Given the description of an element on the screen output the (x, y) to click on. 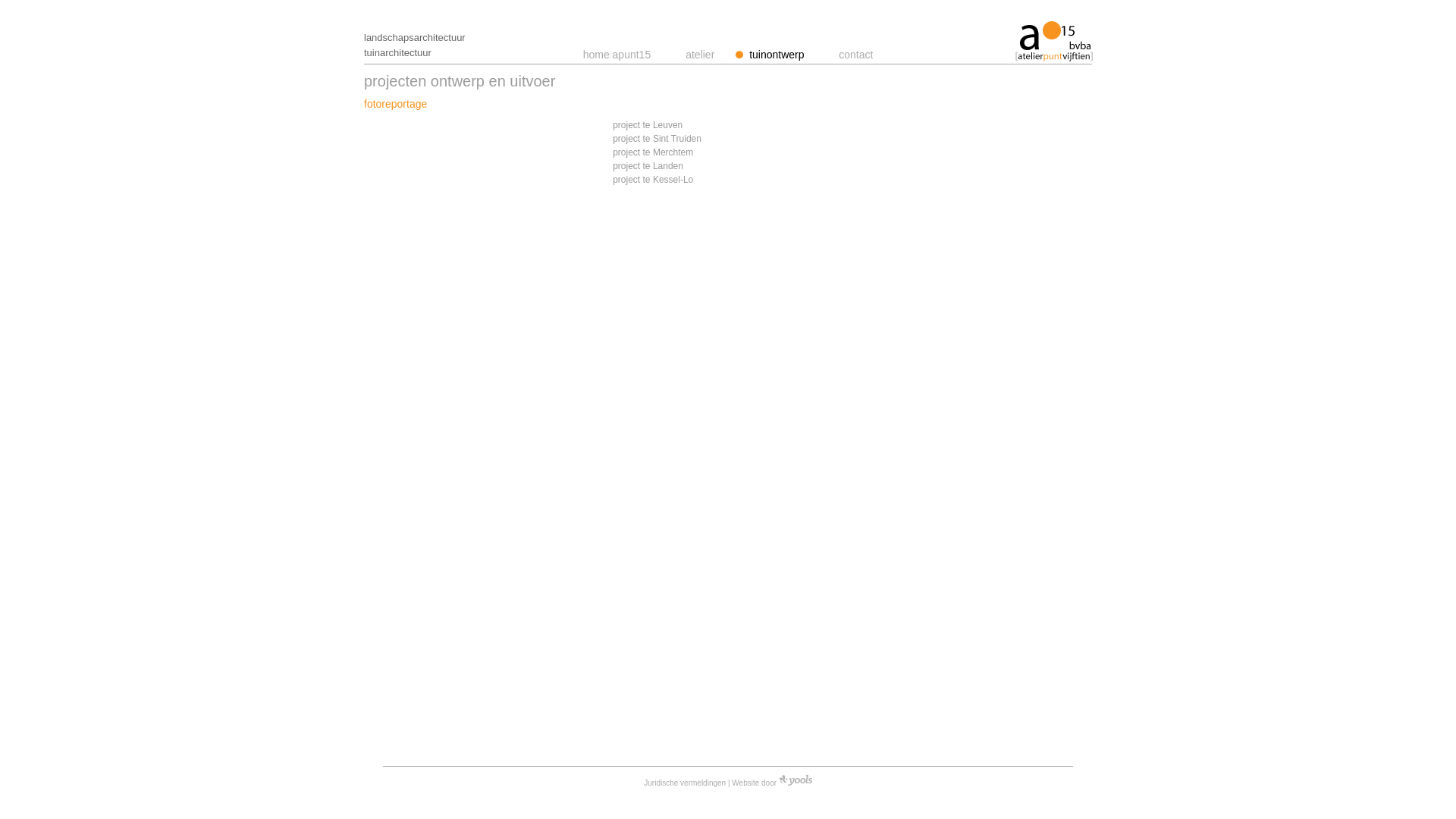
Juridische vermeldingen Element type: text (684, 782)
project te Kessel-Lo Element type: text (652, 179)
atelier Element type: text (699, 54)
project te Merchtem Element type: text (652, 152)
contact Element type: text (855, 54)
project te Sint Truiden Element type: text (656, 138)
tuinontwerp Element type: text (776, 54)
project te Landen Element type: text (647, 165)
project te Leuven Element type: text (647, 124)
Yools Website Design Element type: hover (795, 780)
home apunt15 Element type: text (617, 54)
